Given the description of an element on the screen output the (x, y) to click on. 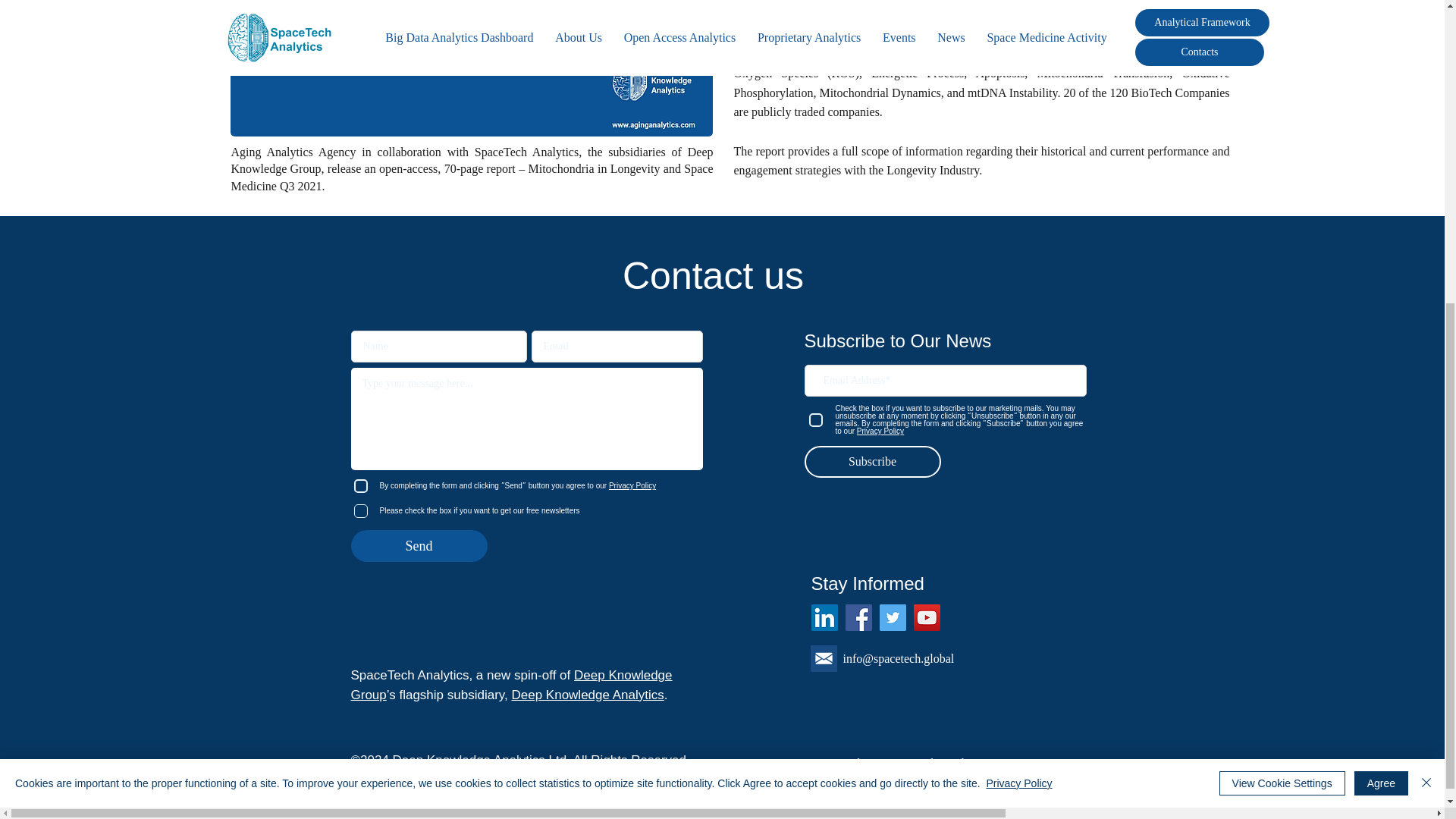
Deep Knowledge Analytics (587, 694)
Privacy Policy (631, 485)
Deep Knowledge Group (510, 684)
View Cookie Settings (1282, 296)
Send (418, 545)
Privacy Policy (849, 763)
Subscribe (871, 461)
Agree (1380, 296)
Cookie Policy (956, 763)
Privacy Policy (1018, 296)
